Given the description of an element on the screen output the (x, y) to click on. 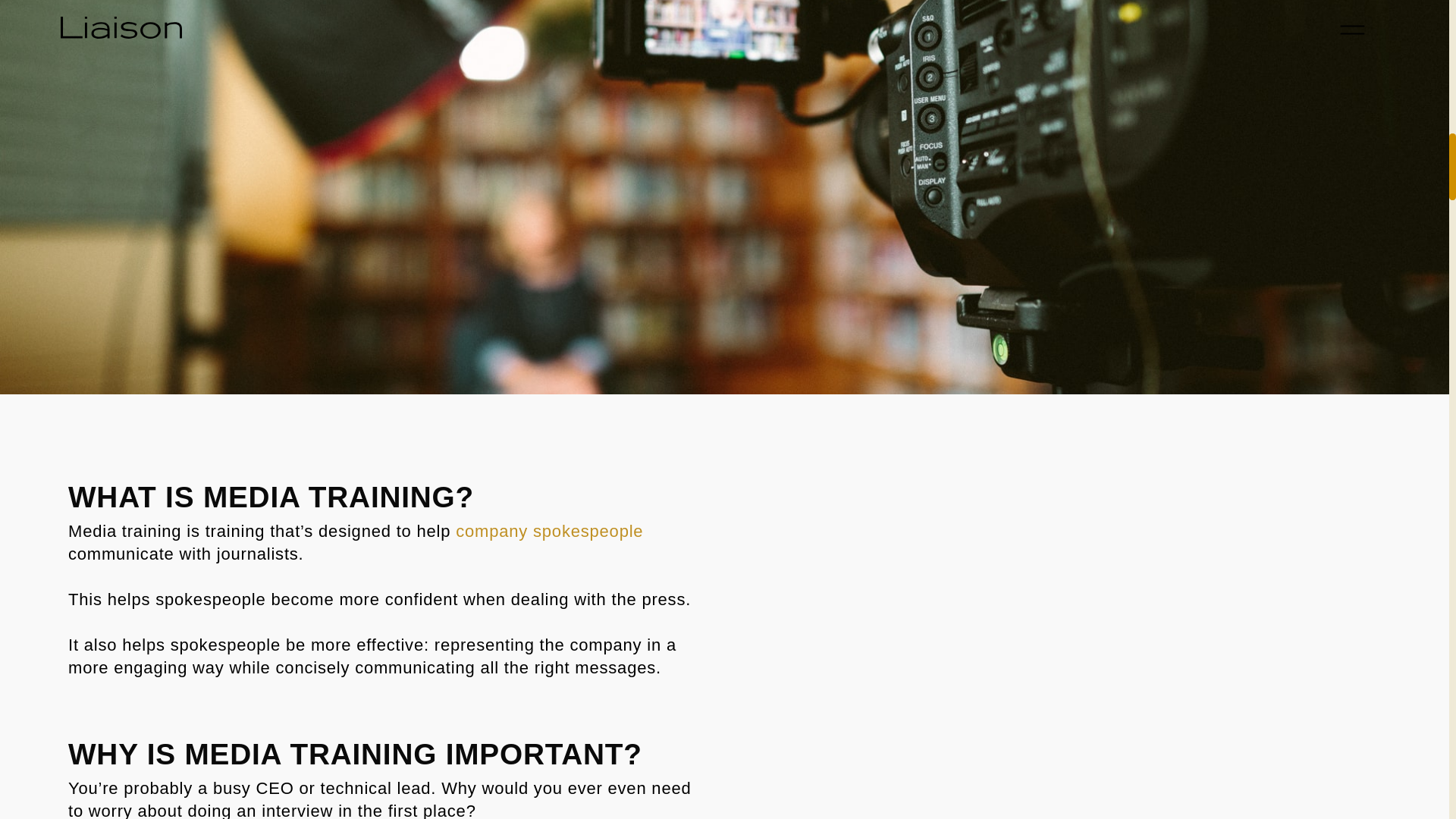
company spokespeople (549, 530)
